Given the description of an element on the screen output the (x, y) to click on. 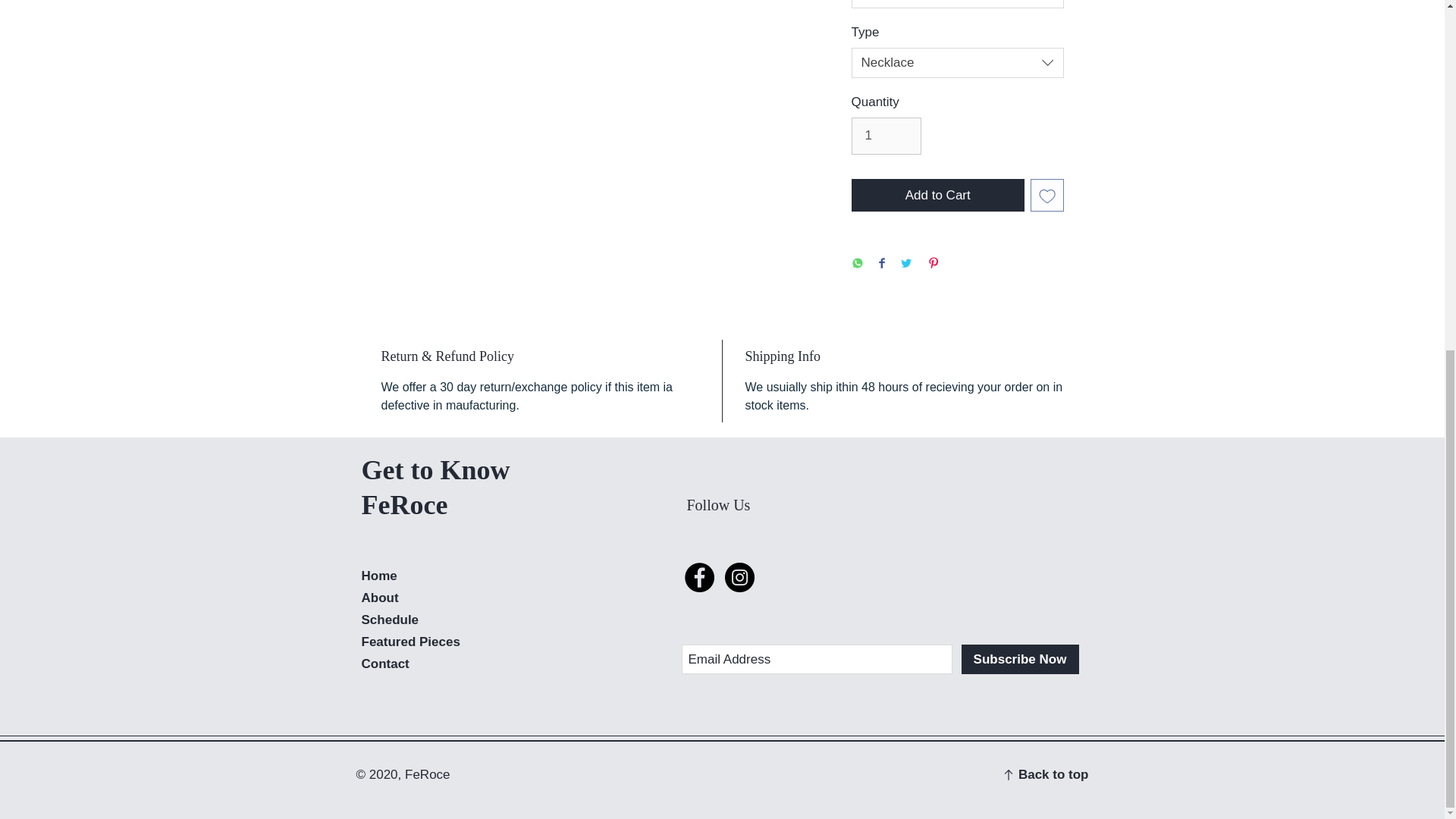
Back to top (1053, 774)
Schedule (390, 619)
1 (885, 135)
Necklace (956, 62)
Featured Pieces (410, 641)
Home (378, 575)
Contact (385, 663)
Add to Cart (937, 195)
About (379, 597)
Subscribe Now (1019, 659)
